Given the description of an element on the screen output the (x, y) to click on. 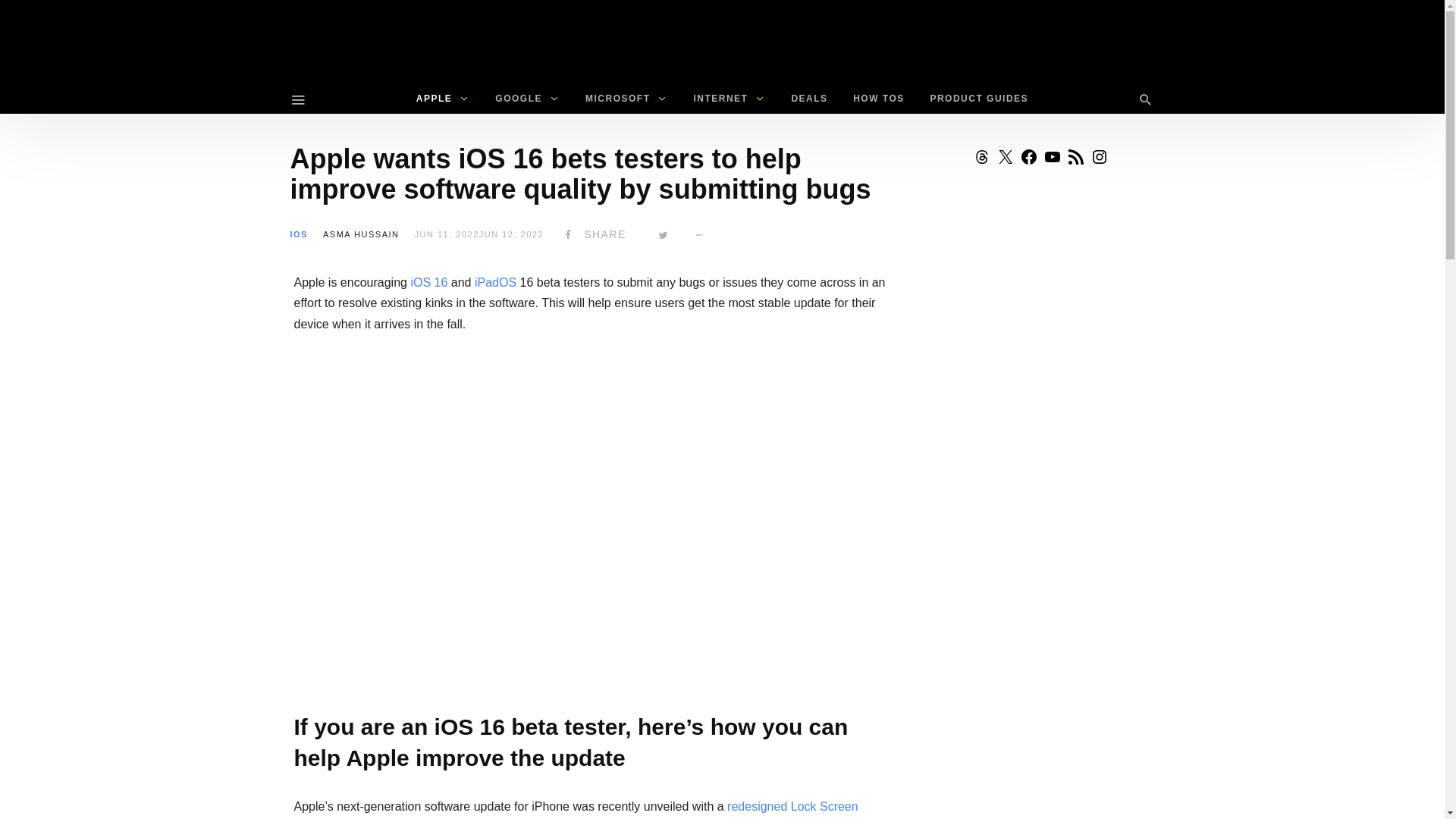
APPLE (442, 98)
MICROSOFT (626, 98)
Posts by Asma Hussain (360, 234)
More (699, 234)
IOS (298, 234)
GOOGLE (526, 98)
DEALS (808, 98)
ASMA HUSSAIN (360, 234)
HOW TOS (878, 98)
PRODUCT GUIDES (978, 98)
